Given the description of an element on the screen output the (x, y) to click on. 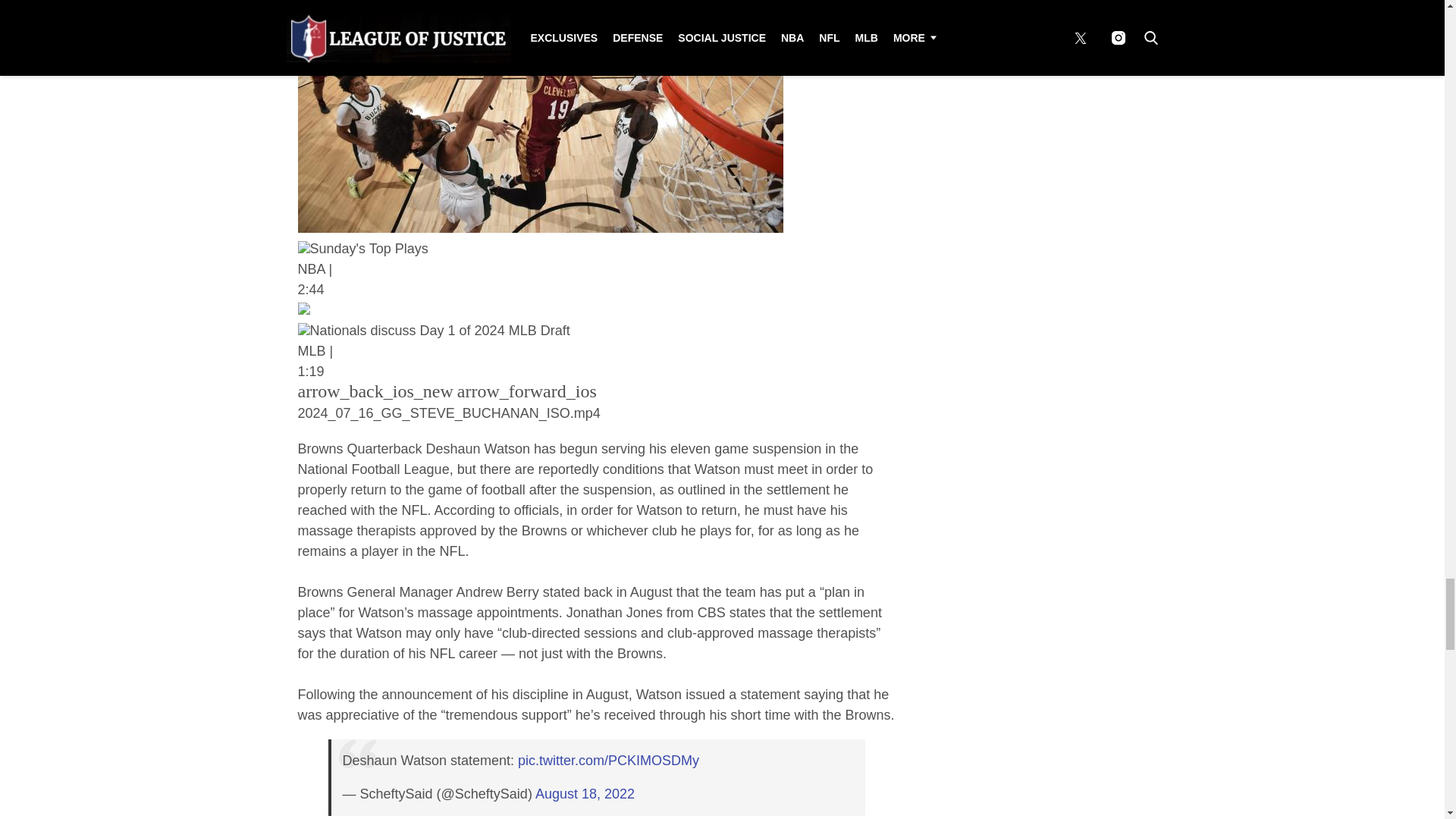
August 18, 2022 (584, 793)
